Given the description of an element on the screen output the (x, y) to click on. 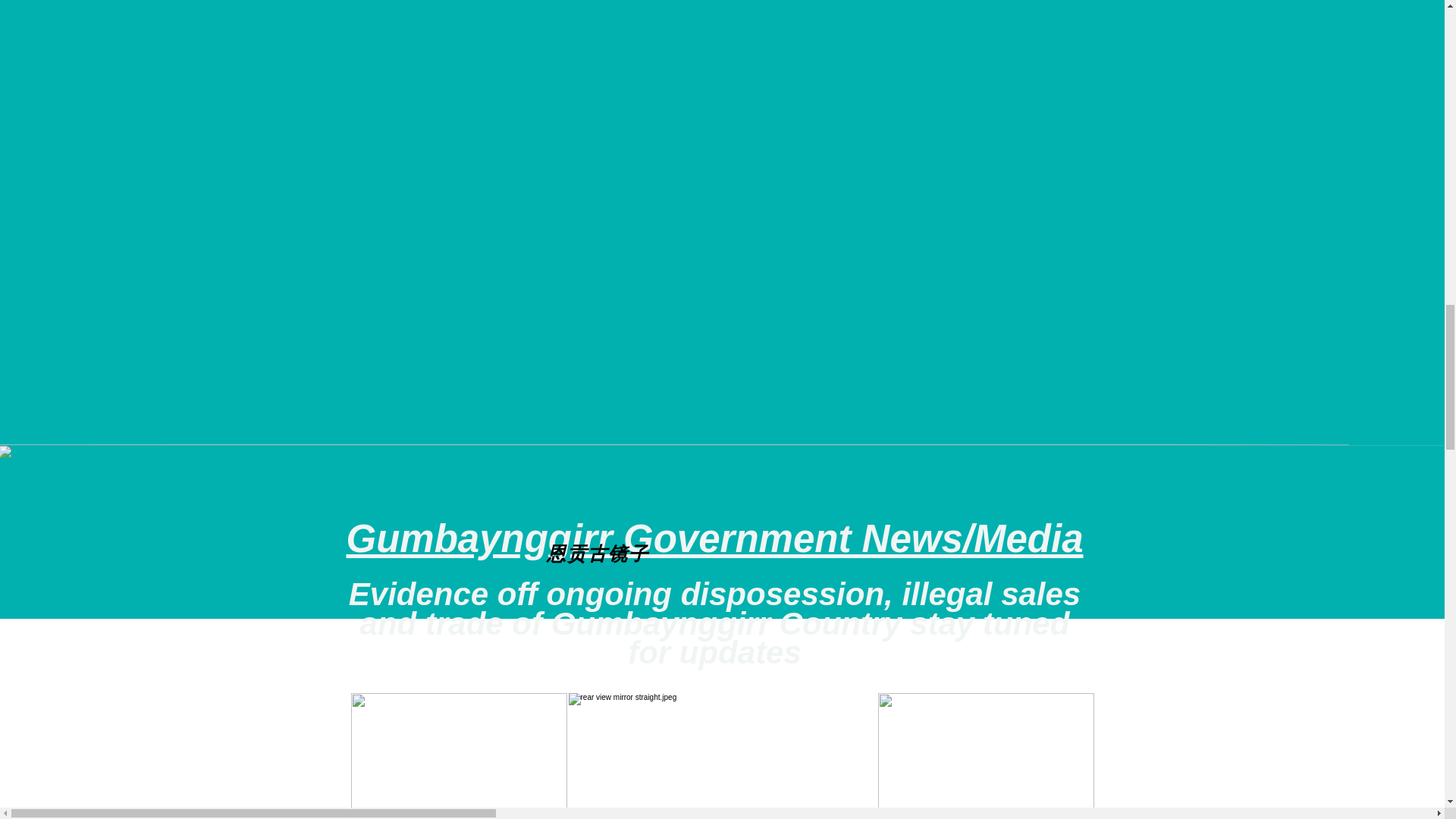
sun rearview mirror.jpeg (985, 755)
